Given the description of an element on the screen output the (x, y) to click on. 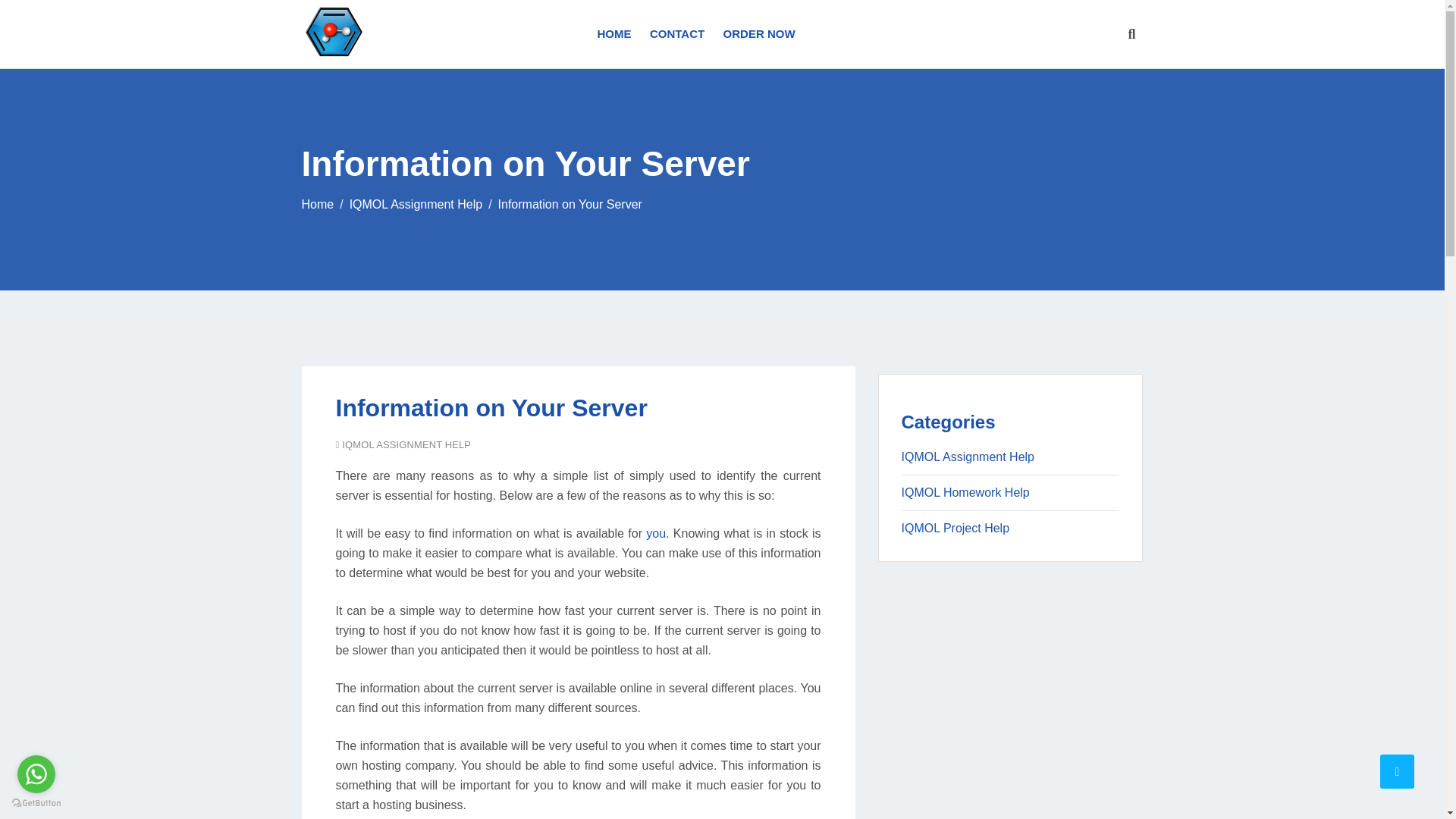
IQMOL Assignment Help (415, 204)
IQMOL Project Help (955, 527)
IQMOL Homework Help (965, 492)
Home (317, 204)
ORDER NOW (755, 33)
IQMOL Assignment Help (967, 456)
you (655, 533)
IQMOL ASSIGNMENT HELP (406, 444)
CONTACT (676, 33)
